Given the description of an element on the screen output the (x, y) to click on. 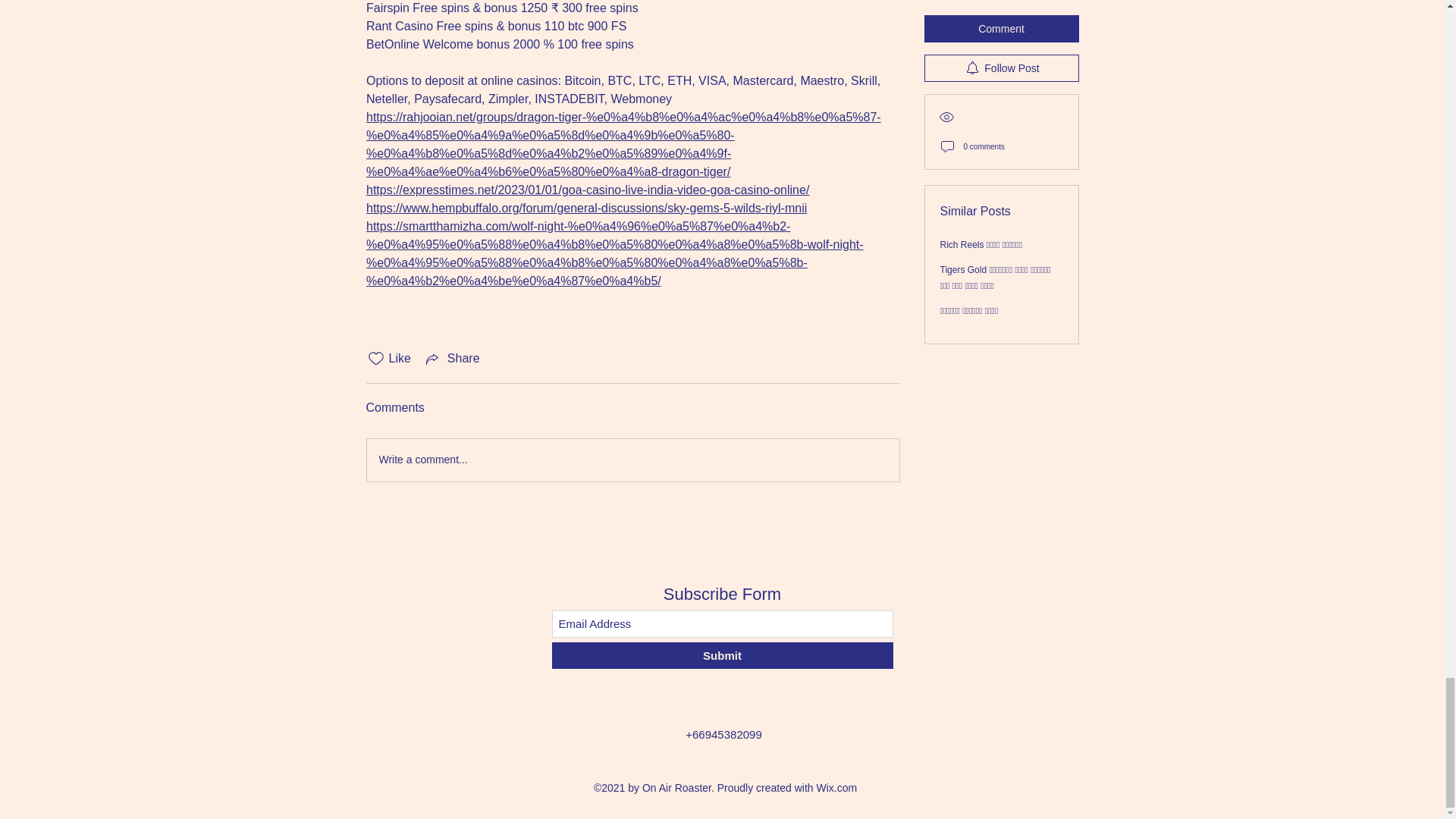
Submit (722, 655)
Write a comment... (632, 459)
Share (451, 358)
